Given the description of an element on the screen output the (x, y) to click on. 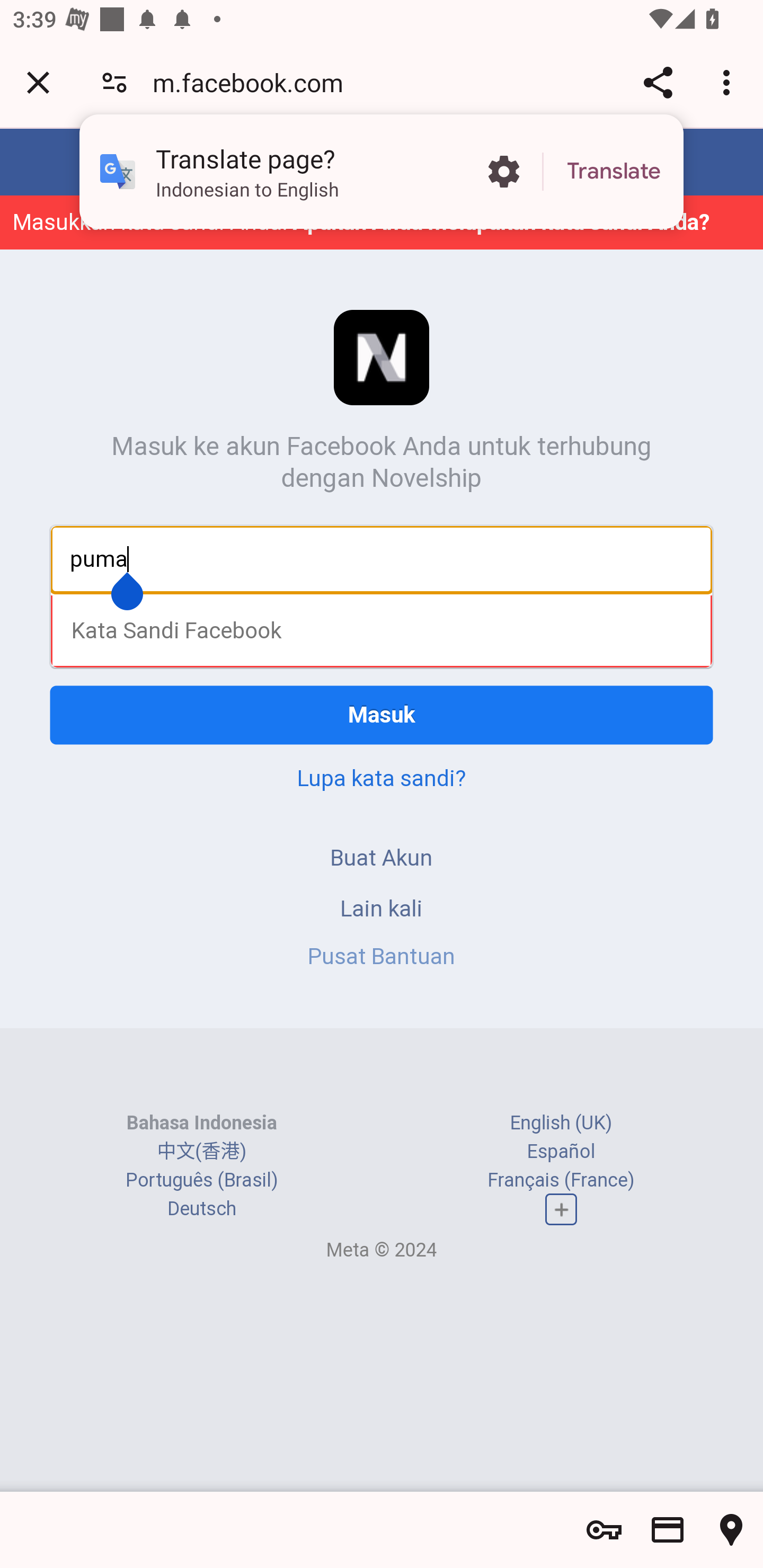
Close tab (38, 82)
Share (657, 82)
Customize and control Google Chrome (729, 82)
Connection is secure (114, 81)
m.facebook.com (254, 81)
Translate (613, 171)
More options in the Translate page? (503, 171)
puma (381, 558)
Masuk (381, 714)
Lupa kata sandi? (381, 778)
Buat Akun (381, 856)
Lain kali (381, 908)
Pusat Bantuan (381, 955)
English (UK) (560, 1122)
中文(香港) (201, 1151)
Español (560, 1151)
Português (Brasil) (201, 1179)
Français (France) (560, 1179)
Daftar bahasa lengkap (560, 1208)
Deutsch (201, 1207)
Show saved passwords and password options (603, 1530)
Show saved payment methods (667, 1530)
Show saved addresses (731, 1530)
